Given the description of an element on the screen output the (x, y) to click on. 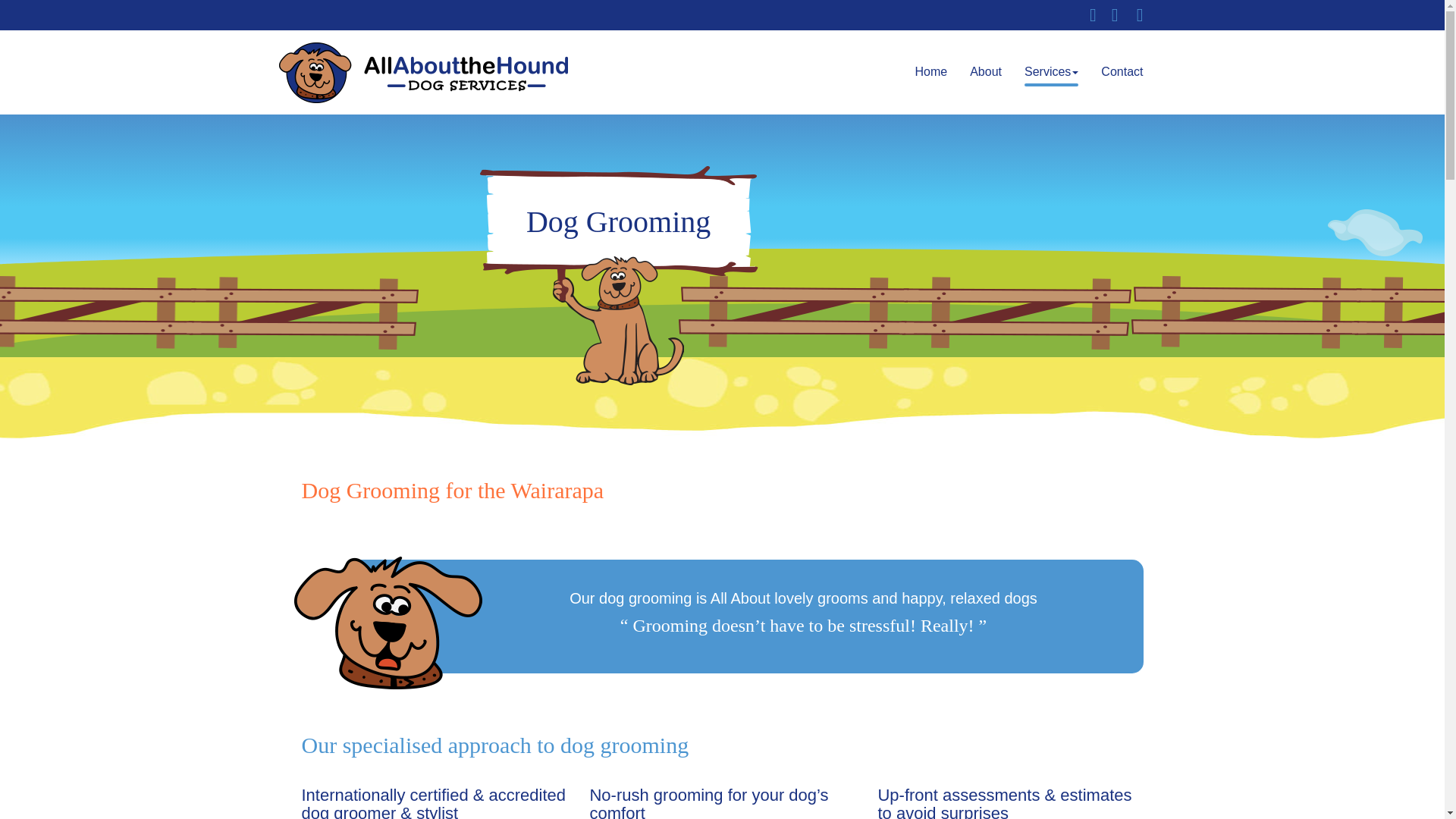
Services (1051, 71)
About (985, 71)
Contact (1121, 71)
Home (930, 71)
